Given the description of an element on the screen output the (x, y) to click on. 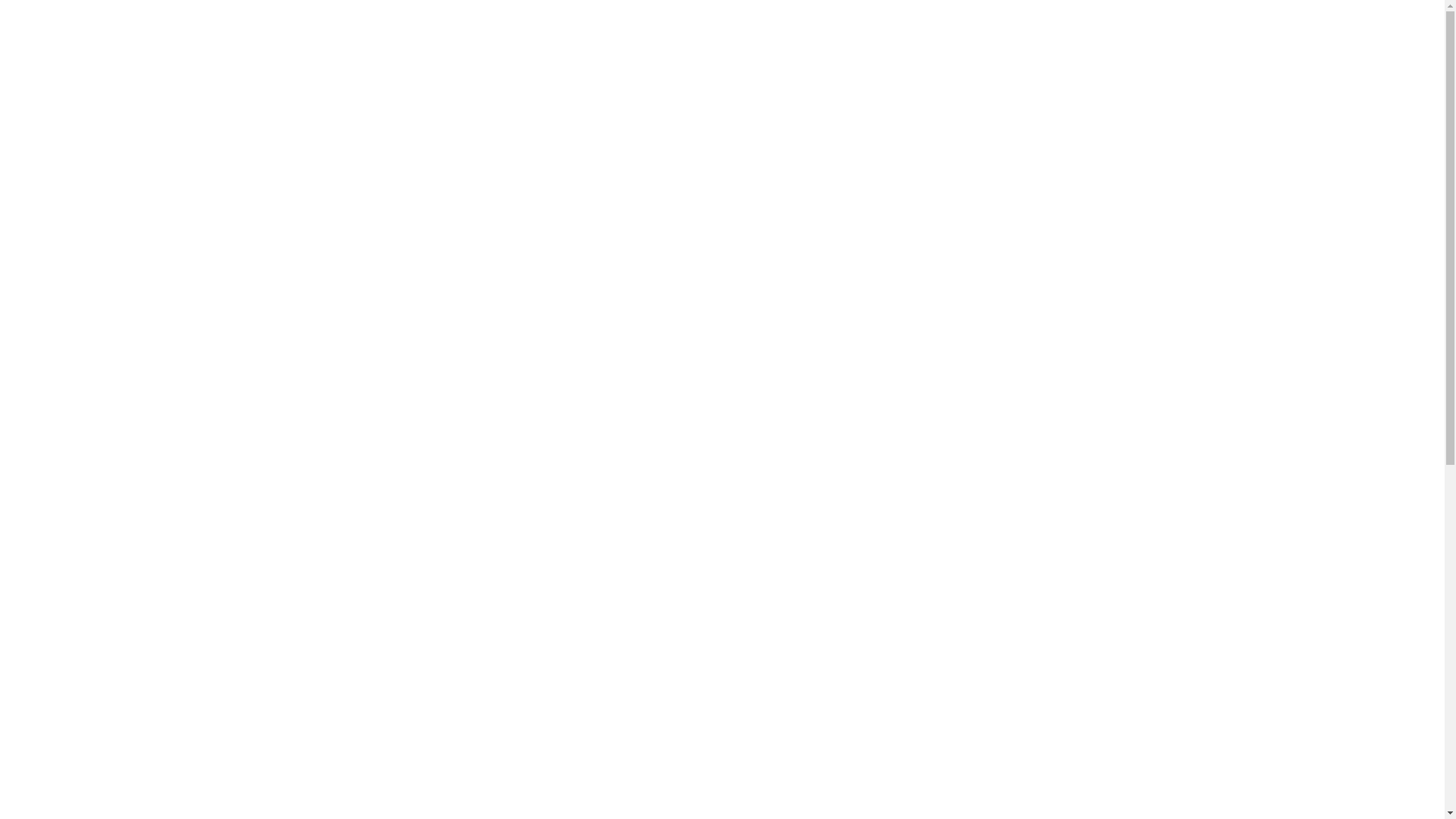
MEDICATIE BESTELLEN Element type: text (980, 15)
HOME Element type: text (877, 15)
OVER MEZELF Element type: text (1104, 15)
